Given the description of an element on the screen output the (x, y) to click on. 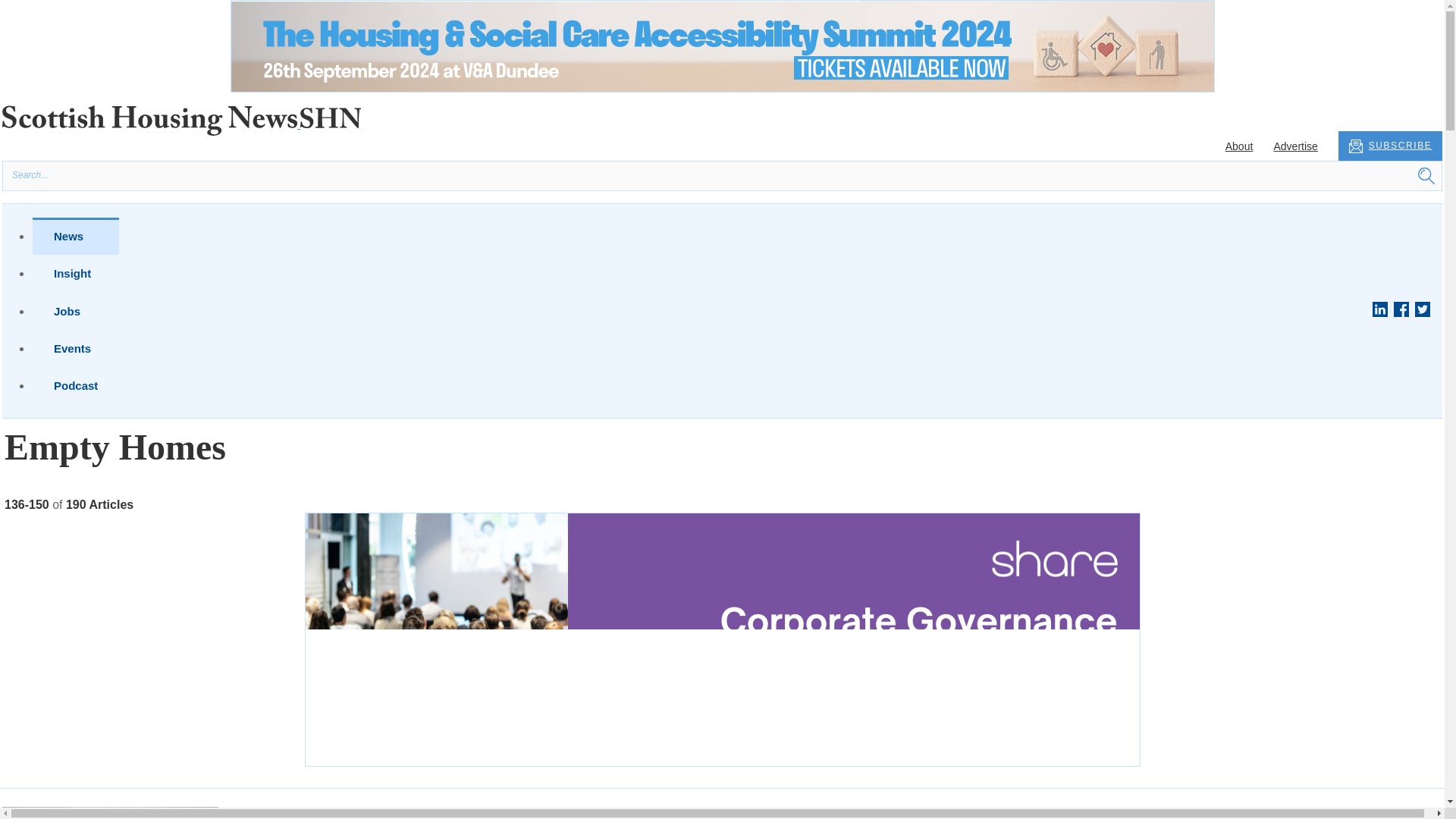
About (1239, 146)
Jobs (75, 311)
SUBSCRIBE (1390, 145)
Advertise (1295, 146)
Insight (75, 272)
Podcast (75, 385)
Events (75, 348)
News (75, 235)
